Given the description of an element on the screen output the (x, y) to click on. 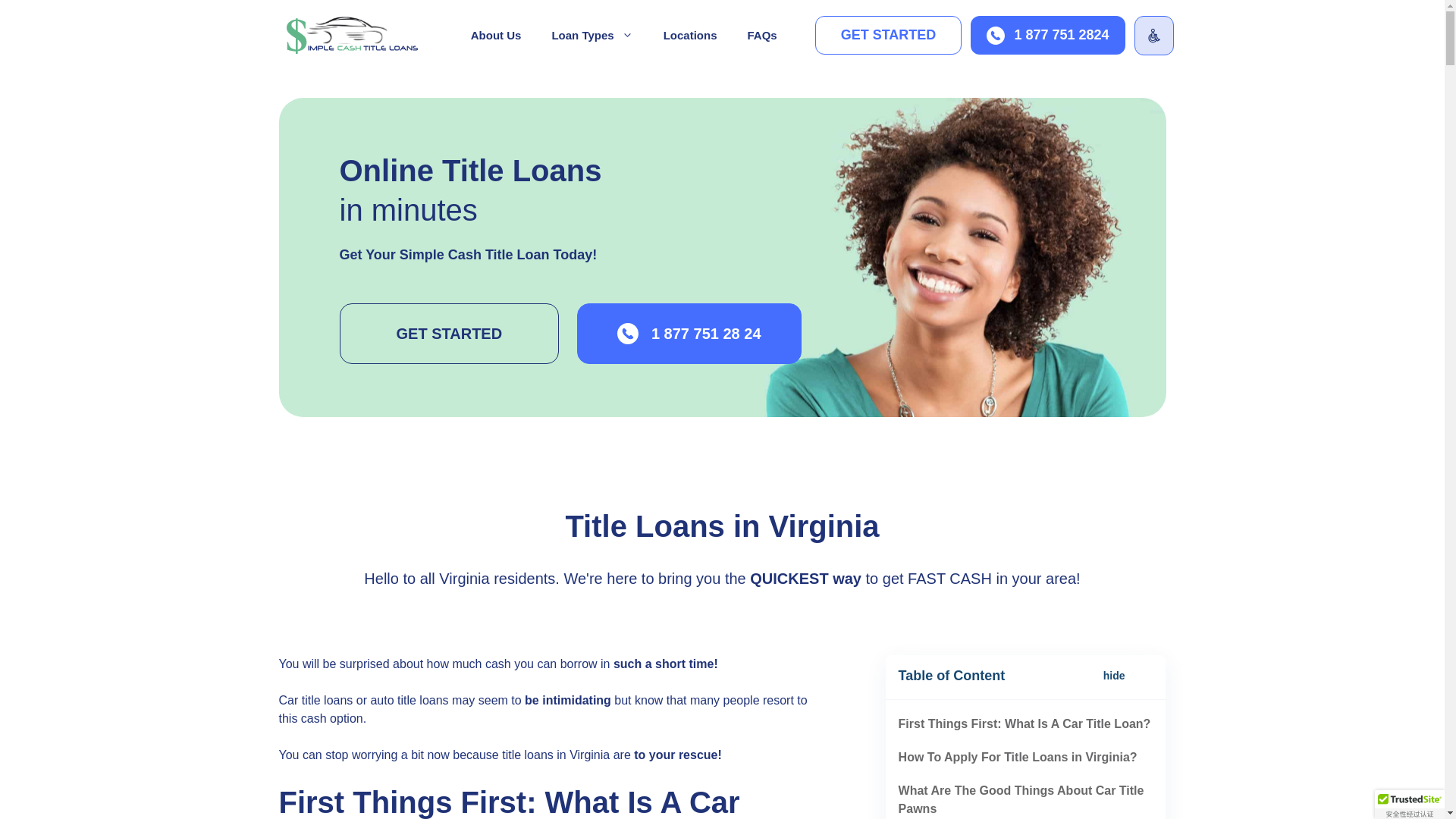
FAQs (762, 35)
What Are The Good Things About Car Title Pawns (1021, 798)
GET STARTED (449, 333)
Locations (689, 35)
GET STARTED (888, 34)
1 877 751 28 24 (688, 333)
About Us (496, 35)
Simple Cash Title Loans (352, 35)
1 877 751 2824 (1047, 34)
Loan Types (591, 35)
First Things First: What Is A Car Title Loan? (1024, 723)
How To Apply For Title Loans in Virginia? (1017, 757)
